Given the description of an element on the screen output the (x, y) to click on. 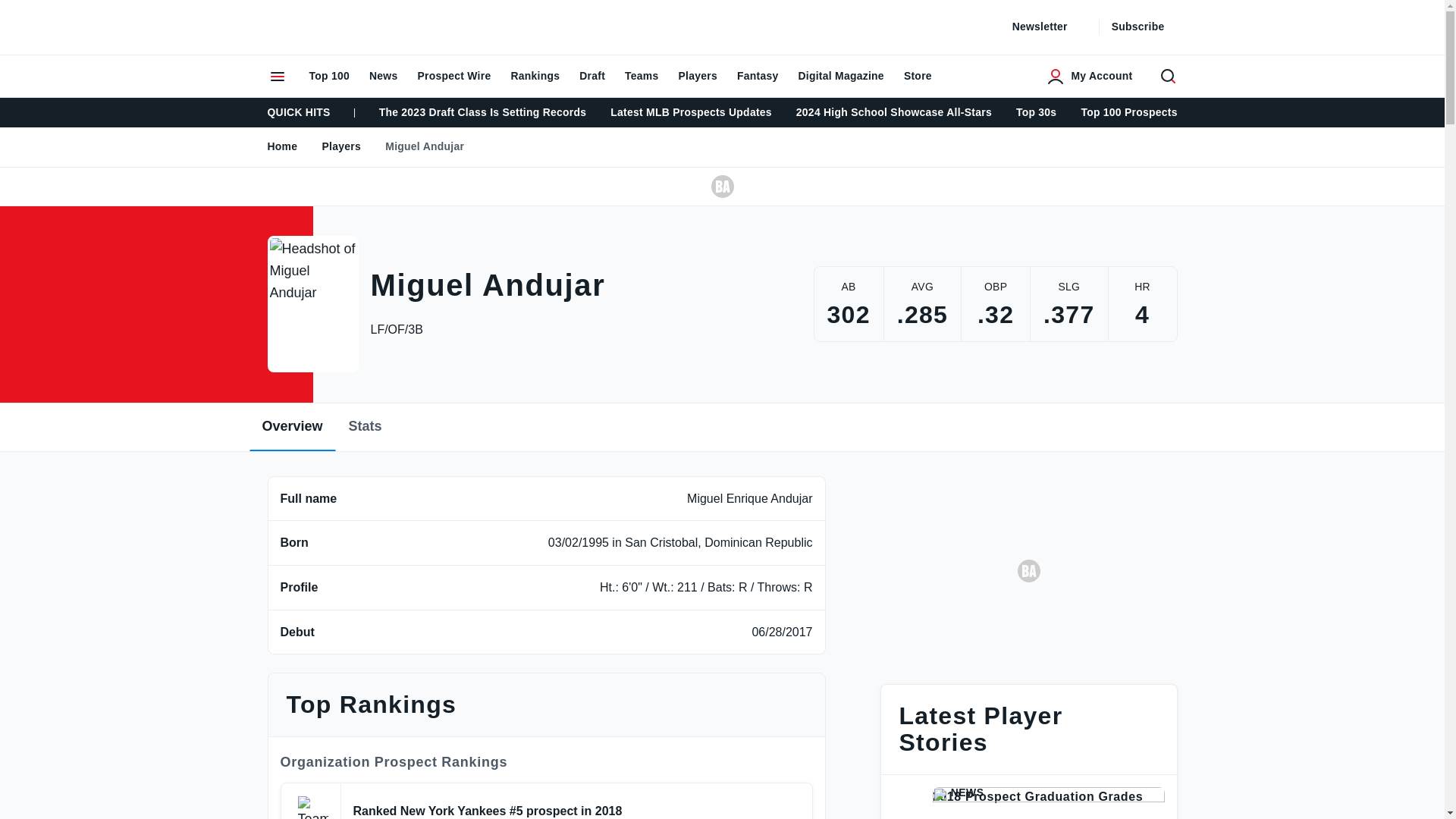
On base percentage (995, 288)
Top 30s (1036, 112)
Newsletter (1048, 26)
Subscribe (1147, 26)
Rankings (534, 76)
Players (697, 76)
Top 100 (328, 76)
Teams (641, 76)
The 2023 Draft Class Is Setting Records (482, 112)
Prospect Wire (453, 76)
